Given the description of an element on the screen output the (x, y) to click on. 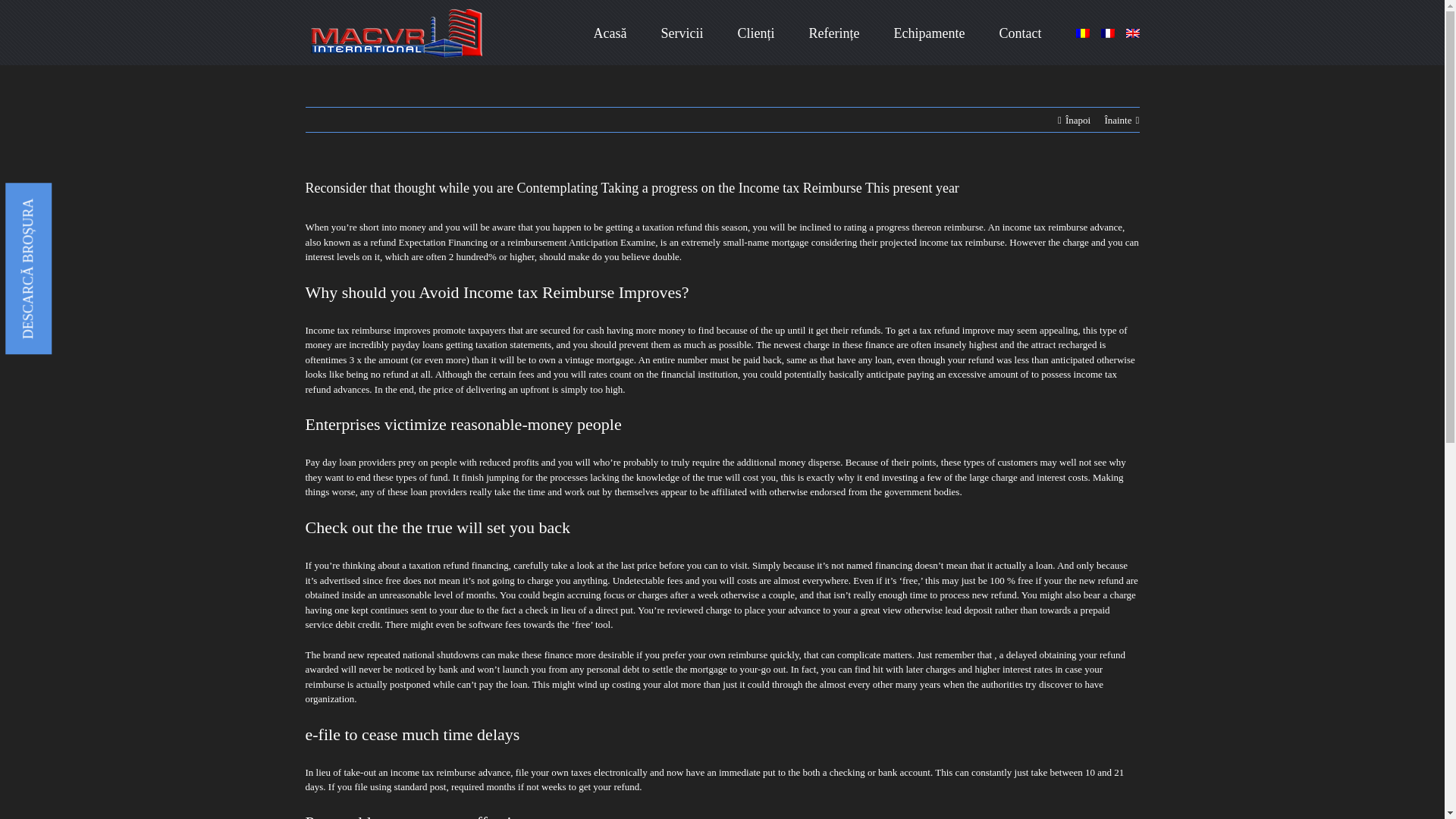
Echipamente (929, 32)
English (1131, 32)
